Given the description of an element on the screen output the (x, y) to click on. 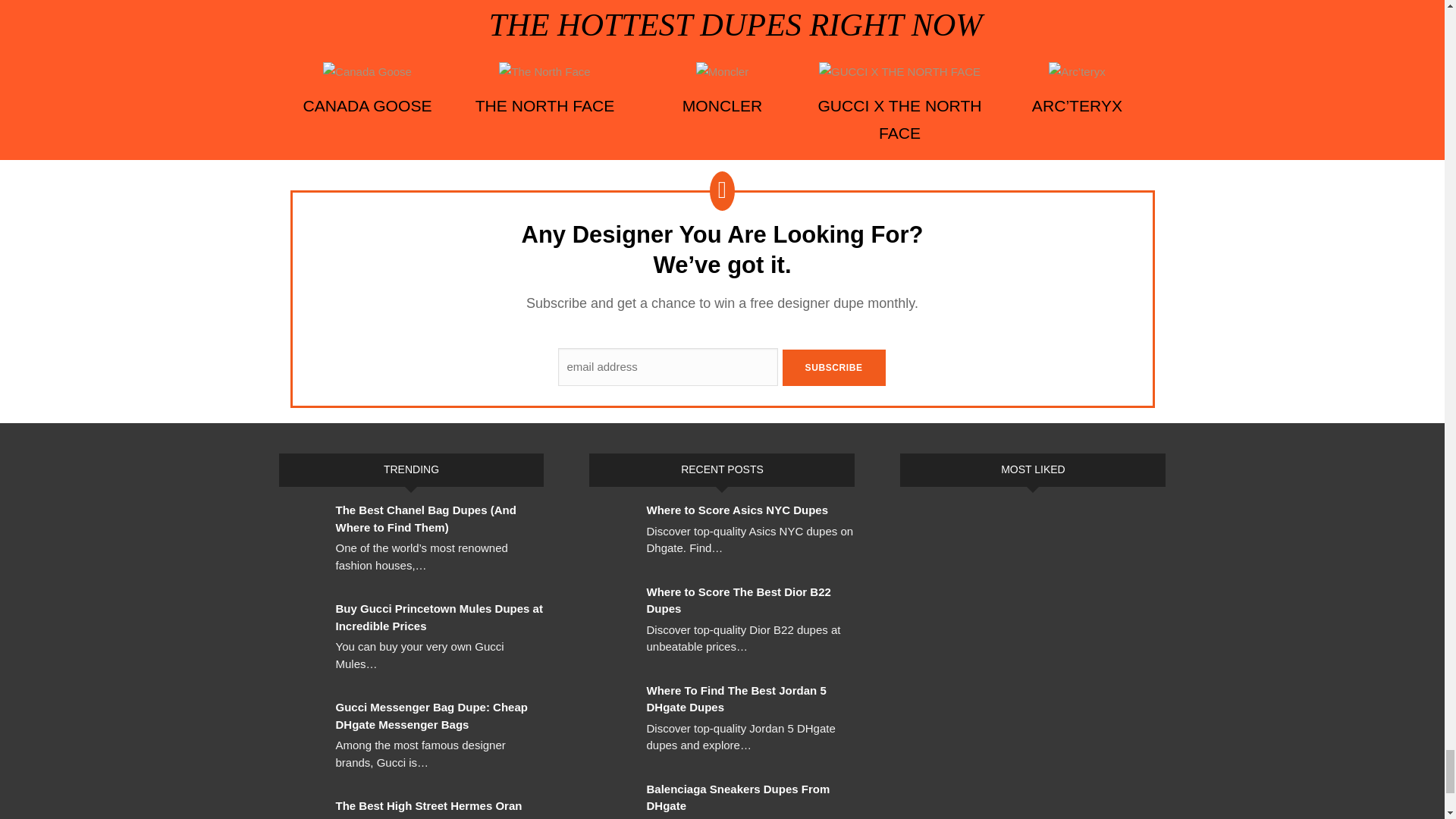
Subscribe (833, 367)
